Given the description of an element on the screen output the (x, y) to click on. 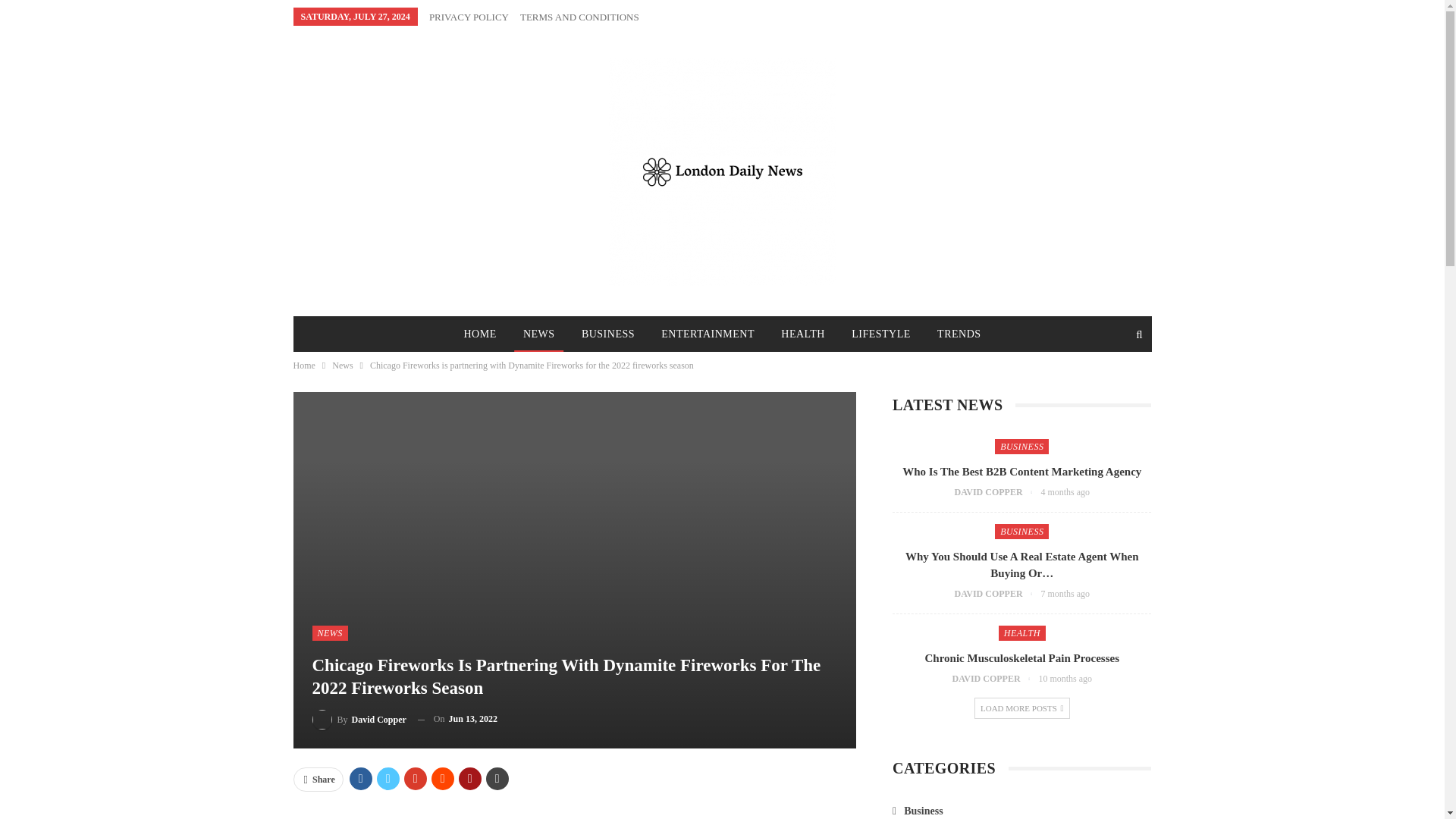
ENTERTAINMENT (707, 334)
TERMS AND CONDITIONS (579, 16)
HEALTH (802, 334)
BUSINESS (607, 334)
LIFESTYLE (881, 334)
NEWS (330, 632)
NEWS (538, 334)
Home (303, 365)
TRENDS (959, 334)
News (341, 365)
Browse Author Articles (359, 719)
HOME (479, 334)
By David Copper (359, 719)
PRIVACY POLICY (468, 16)
